Given the description of an element on the screen output the (x, y) to click on. 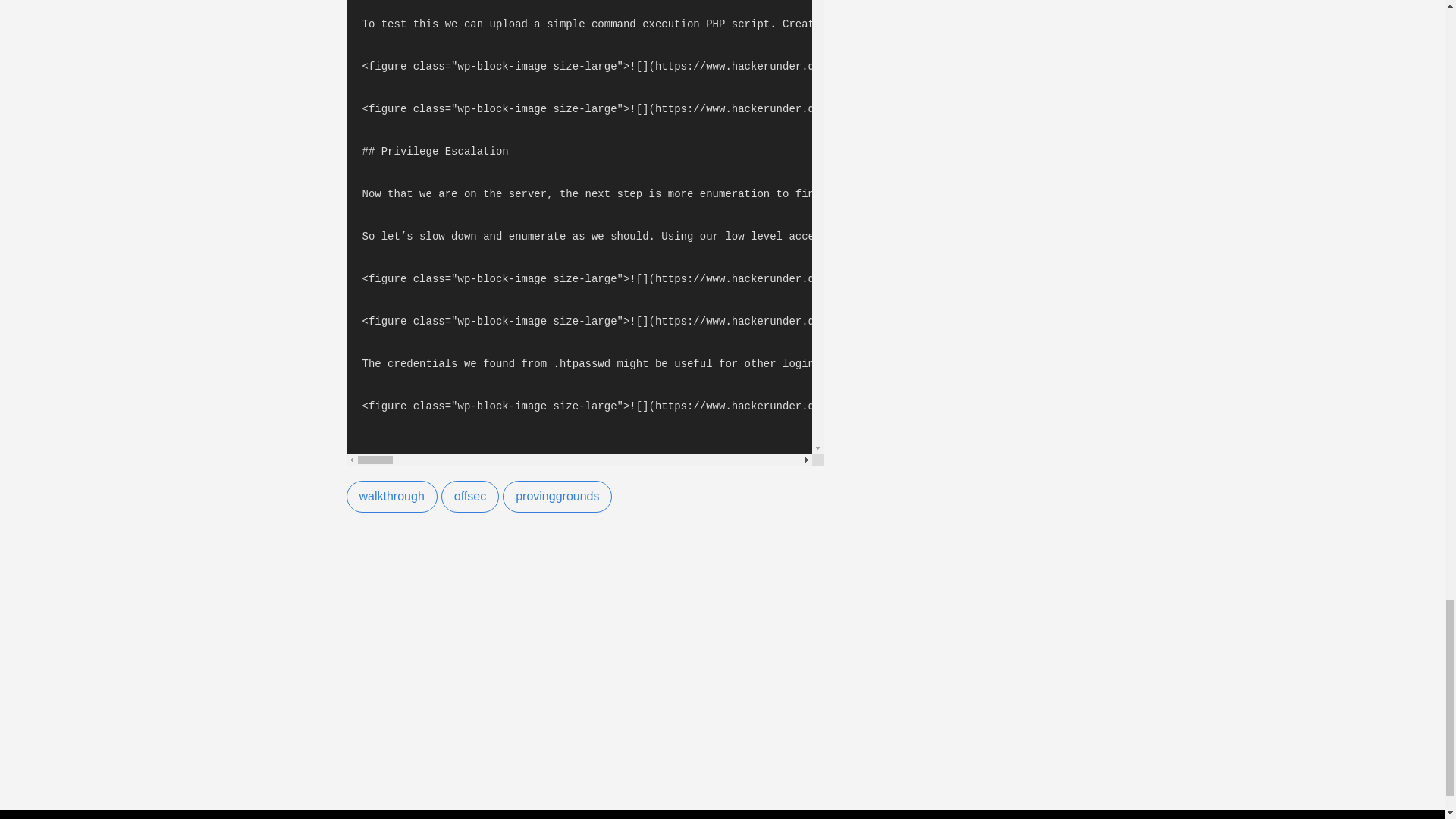
offsec (470, 496)
provinggrounds (556, 496)
walkthrough (391, 496)
